Given the description of an element on the screen output the (x, y) to click on. 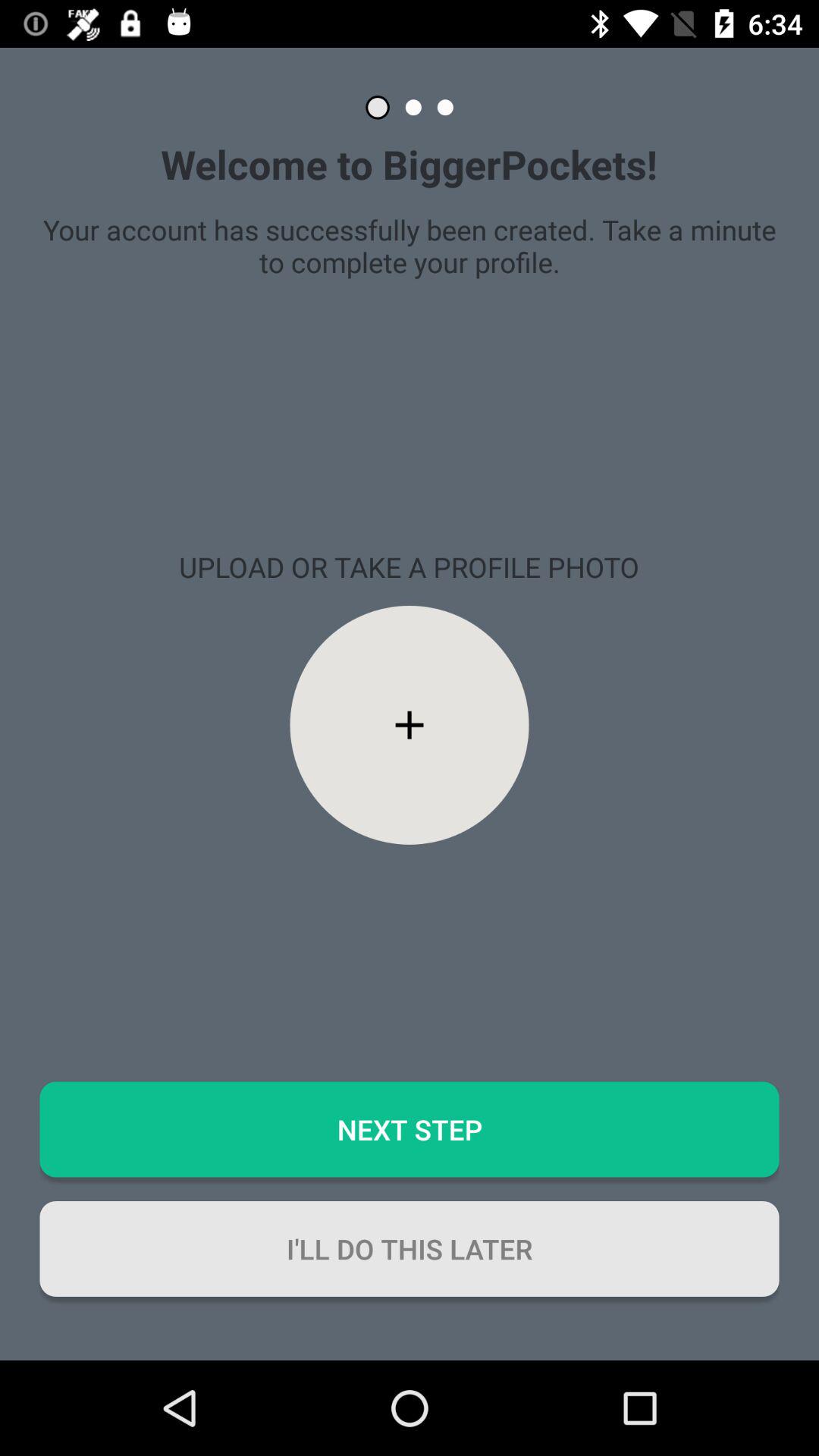
click the item above the next step (409, 724)
